Given the description of an element on the screen output the (x, y) to click on. 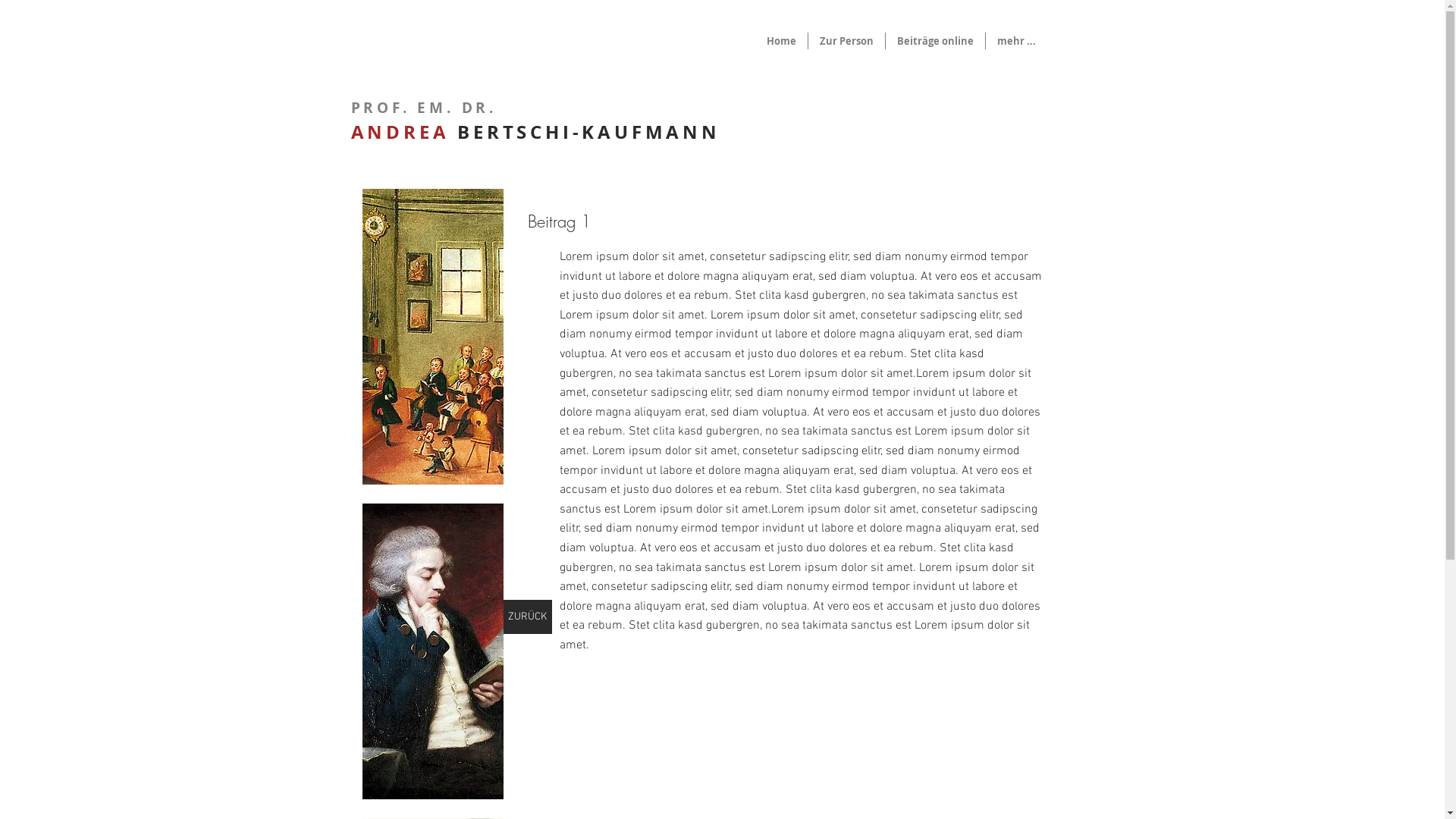
Home Element type: text (781, 40)
Zur Person Element type: text (846, 40)
PROF. EM. DR.
ANDREA BERTSCHI-KAUFMANN Element type: text (534, 118)
